Given the description of an element on the screen output the (x, y) to click on. 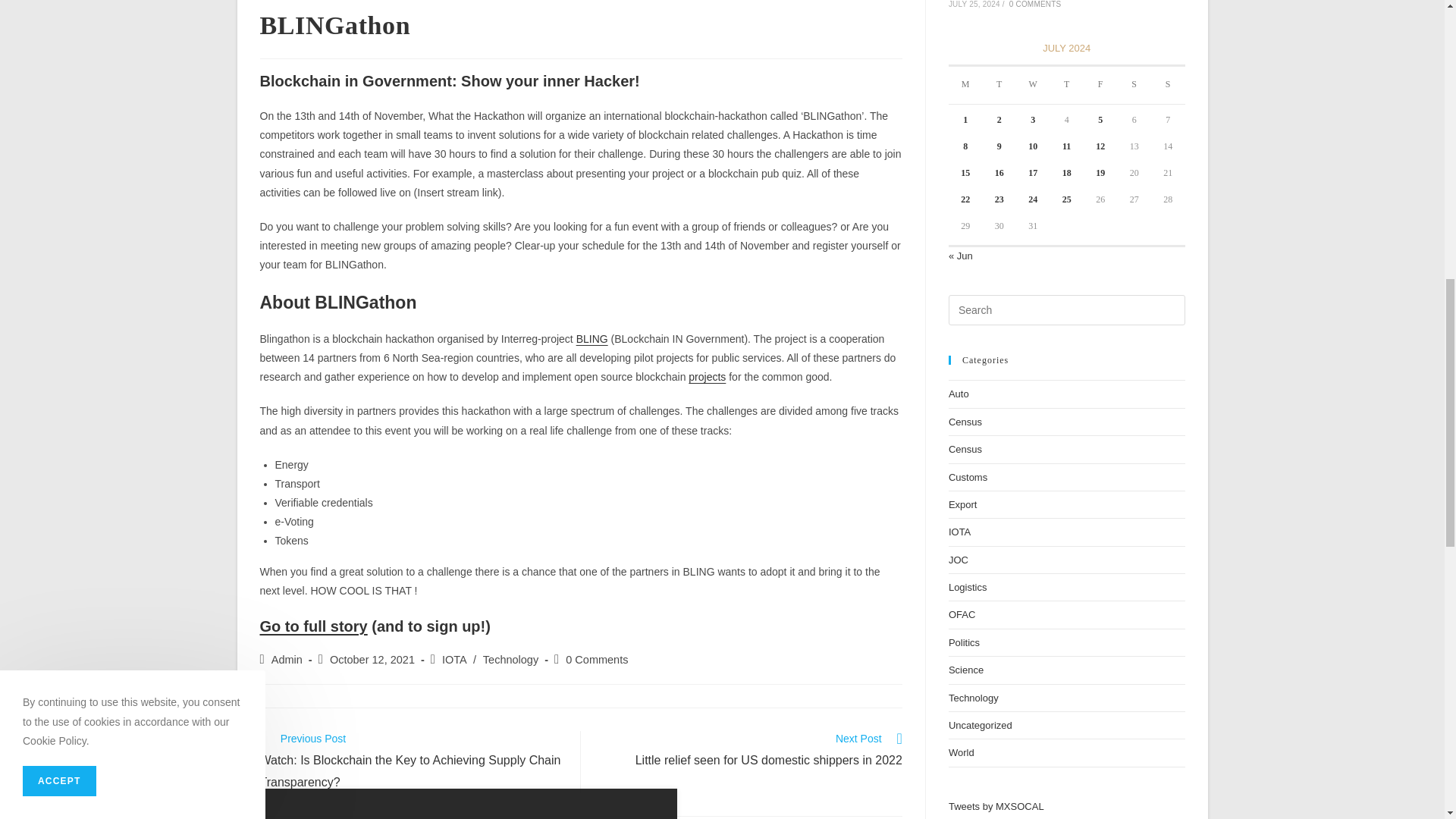
Wednesday (1032, 85)
Friday (1100, 85)
Saturday (1133, 85)
Thursday (1066, 85)
Sunday (1168, 85)
Posts by Admin (286, 659)
Tuesday (998, 85)
Monday (965, 85)
